Given the description of an element on the screen output the (x, y) to click on. 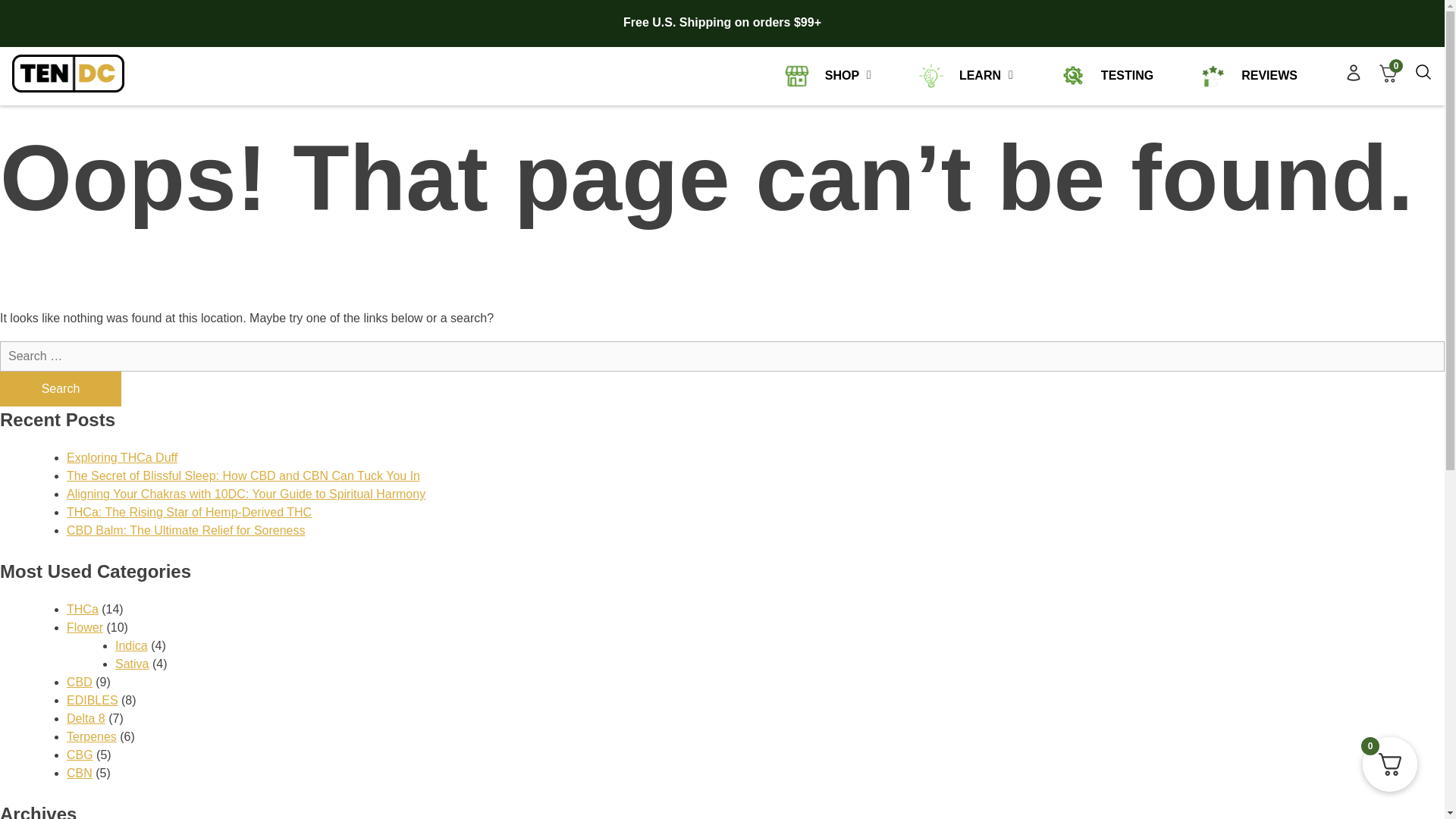
SHOP (821, 75)
Search (60, 388)
REVIEWS (1248, 75)
THCa: The Rising Star of Hemp-Derived THC (188, 512)
TESTING (1106, 75)
Search (60, 388)
Search (60, 388)
Exploring THCa Duff (121, 457)
LEARN (959, 75)
